Given the description of an element on the screen output the (x, y) to click on. 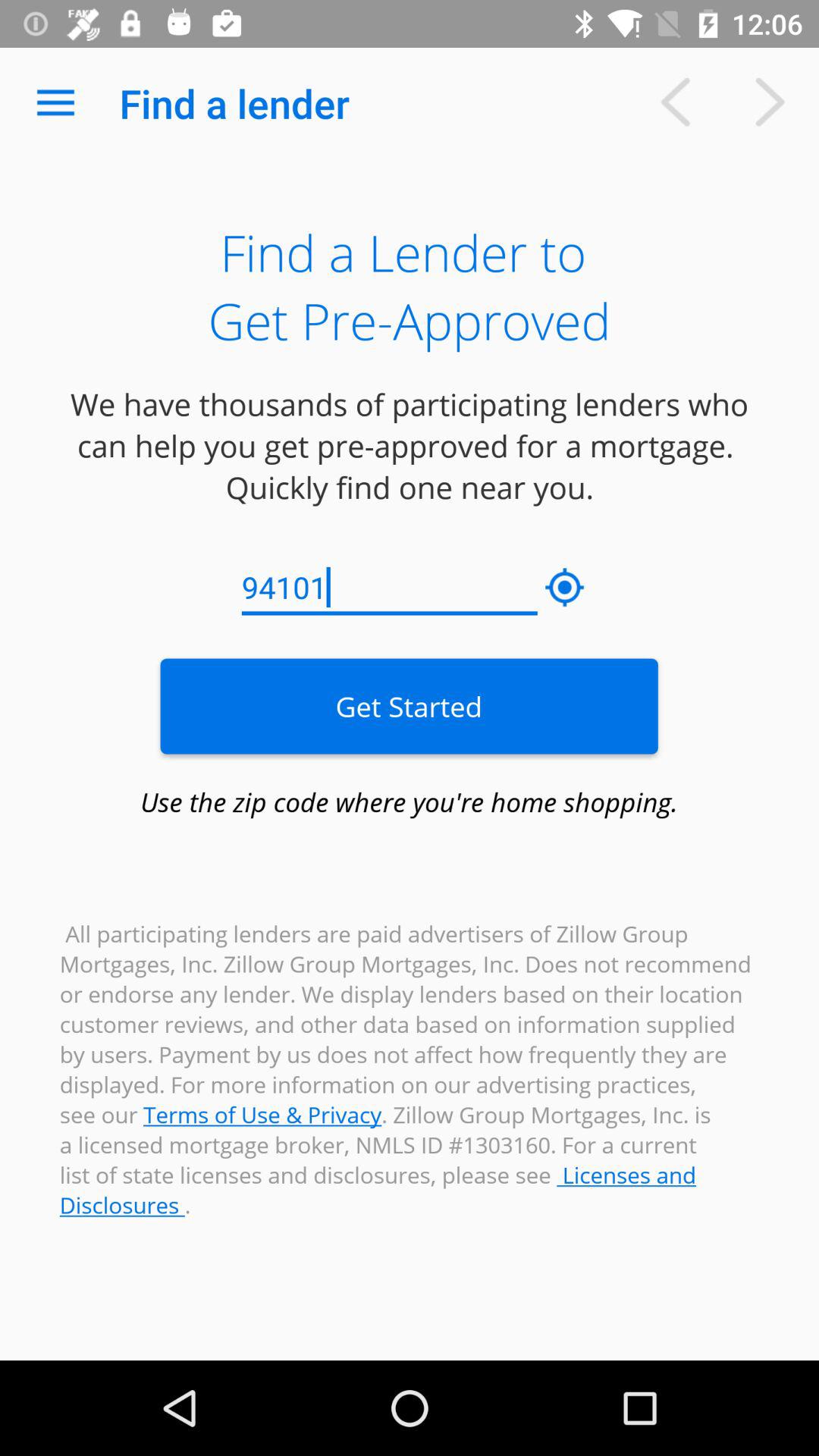
choose the icon to the left of find a lender app (55, 103)
